Given the description of an element on the screen output the (x, y) to click on. 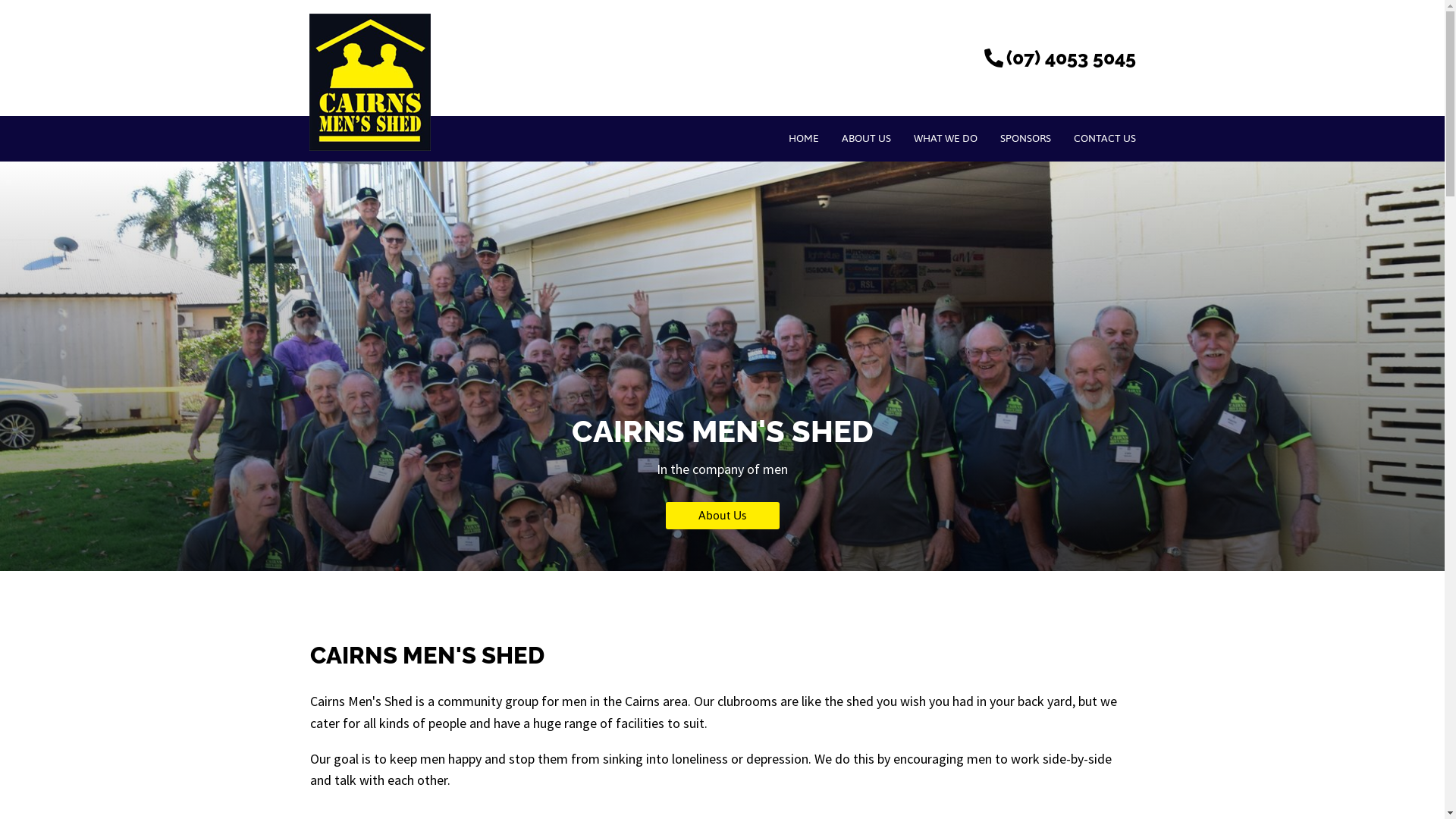
CONTACT US Element type: text (1103, 138)
WHAT WE DO Element type: text (945, 138)
About Us Element type: text (722, 515)
(07) 4053 5045 Element type: text (1058, 57)
HOME Element type: text (802, 138)
ABOUT US Element type: text (865, 138)
SPONSORS Element type: text (1025, 138)
